Given the description of an element on the screen output the (x, y) to click on. 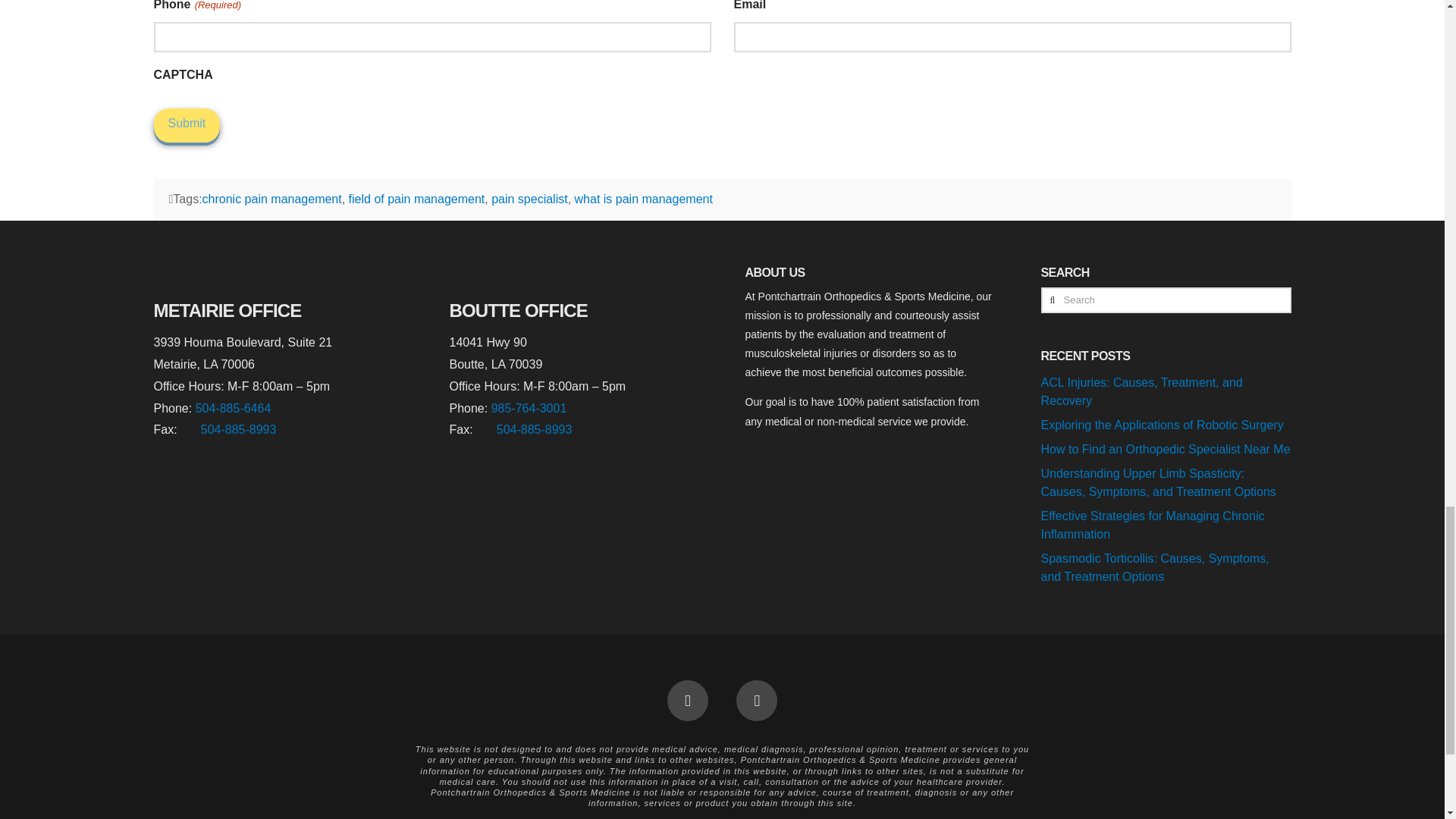
LinkedIn (756, 700)
Submit (185, 125)
Facebook (686, 700)
